Given the description of an element on the screen output the (x, y) to click on. 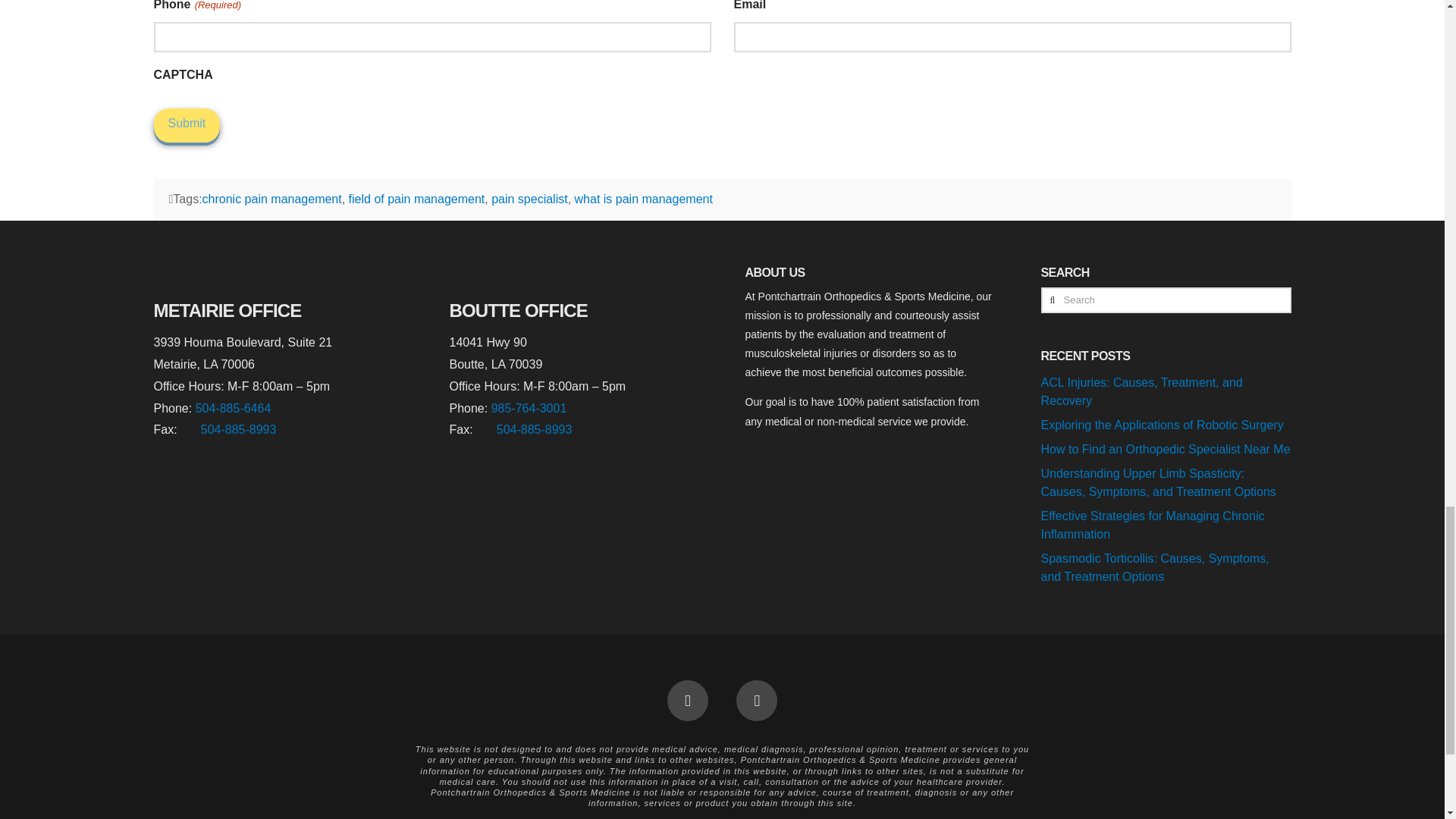
LinkedIn (756, 700)
Submit (185, 125)
Facebook (686, 700)
